Given the description of an element on the screen output the (x, y) to click on. 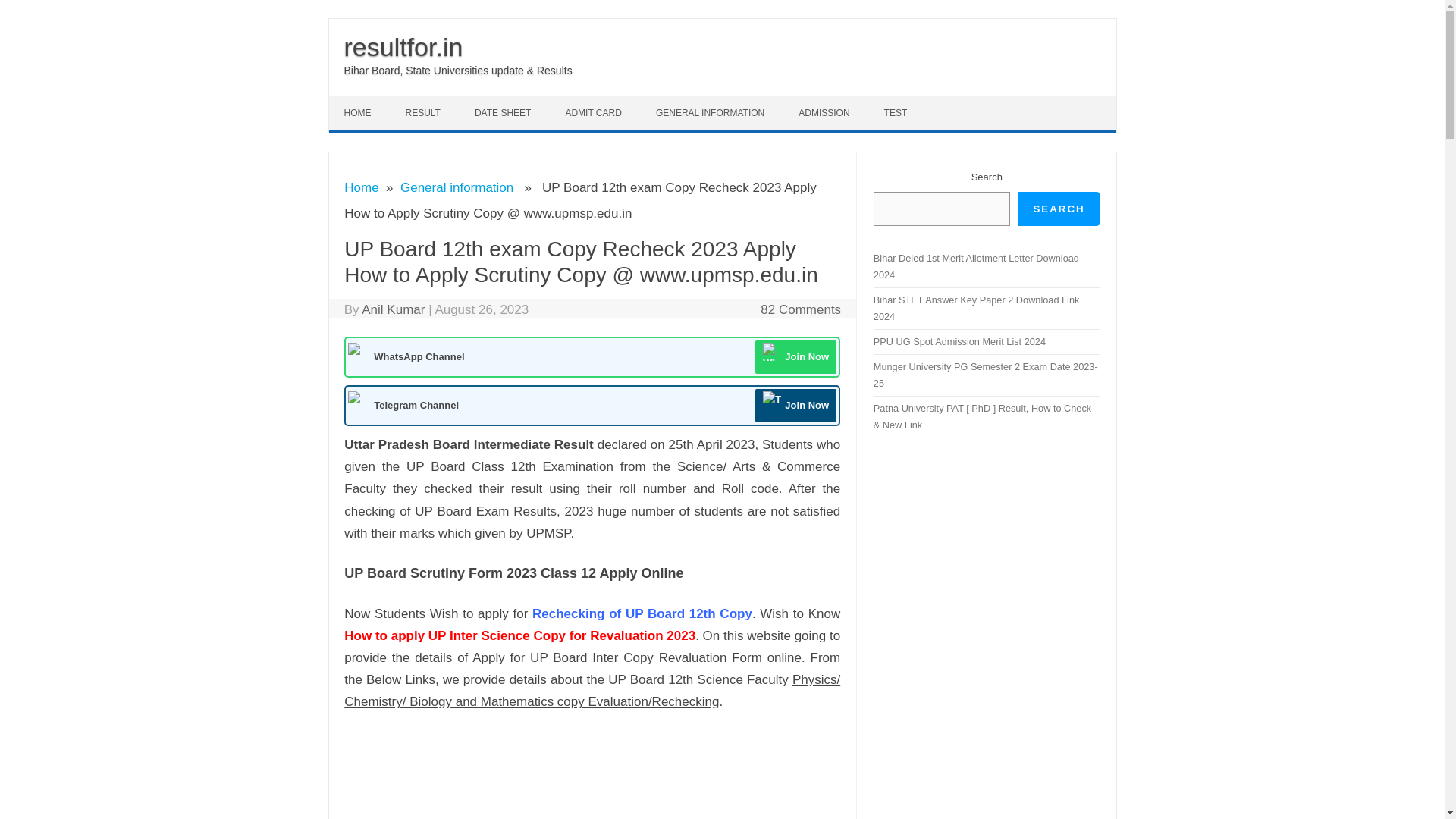
ADMIT CARD (595, 112)
Posts by Anil Kumar (393, 309)
DATE SHEET (505, 112)
RESULT (424, 112)
HOME (359, 112)
ADMISSION (825, 112)
Advertisement (620, 771)
82 Comments (800, 309)
GENERAL INFORMATION (711, 112)
General information (456, 187)
Join Now (795, 405)
Join Now (795, 356)
Anil Kumar (393, 309)
